Given the description of an element on the screen output the (x, y) to click on. 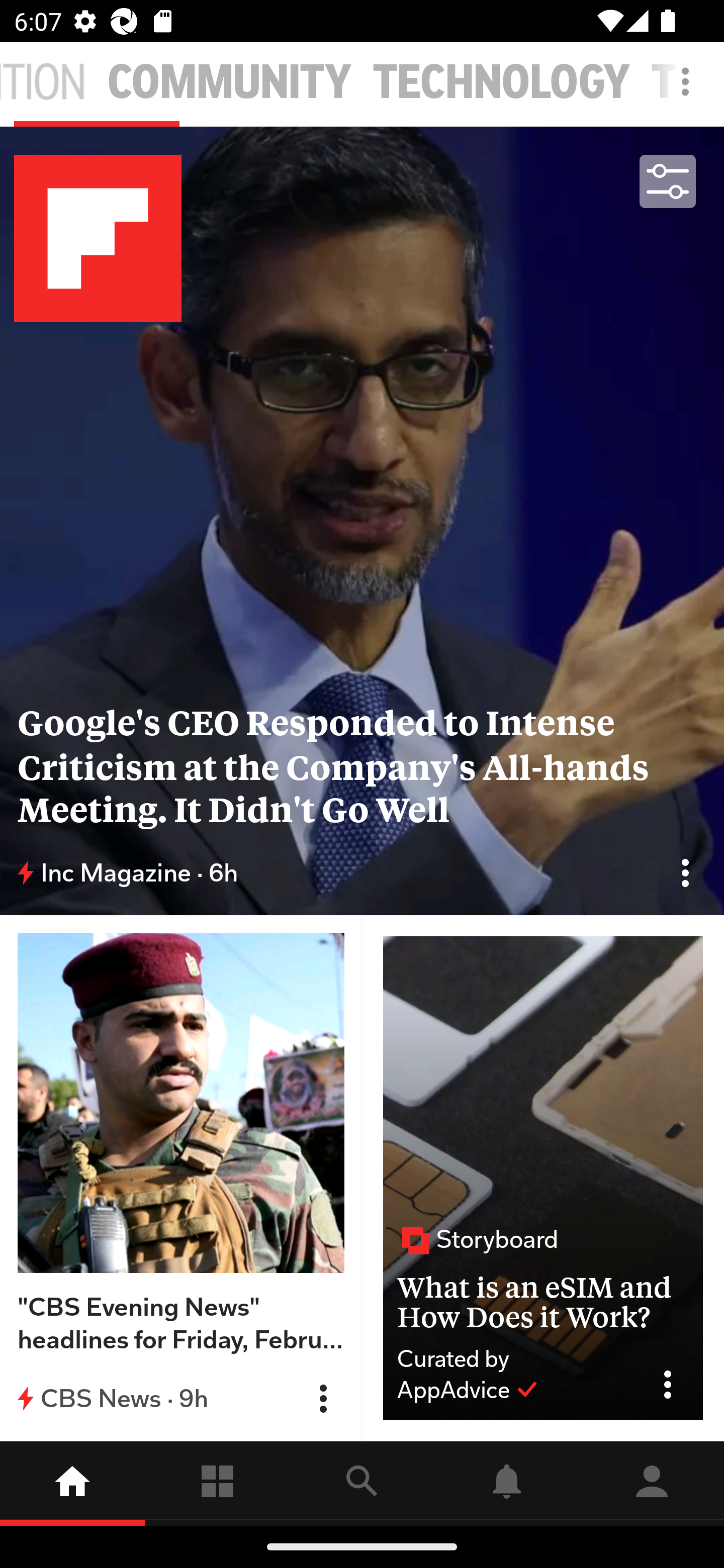
COMMUNITY (229, 82)
TECHNOLOGY (501, 82)
More options (688, 90)
Inc Magazine · 6h Flip into Magazine (362, 873)
Flip into Magazine (685, 872)
Curated by (514, 1359)
CBS News · 9h Flip into Magazine (181, 1398)
Flip into Magazine (323, 1398)
AppAdvice (467, 1389)
home (72, 1482)
Following (216, 1482)
explore (361, 1482)
Notifications (506, 1482)
Profile (651, 1482)
